Given the description of an element on the screen output the (x, y) to click on. 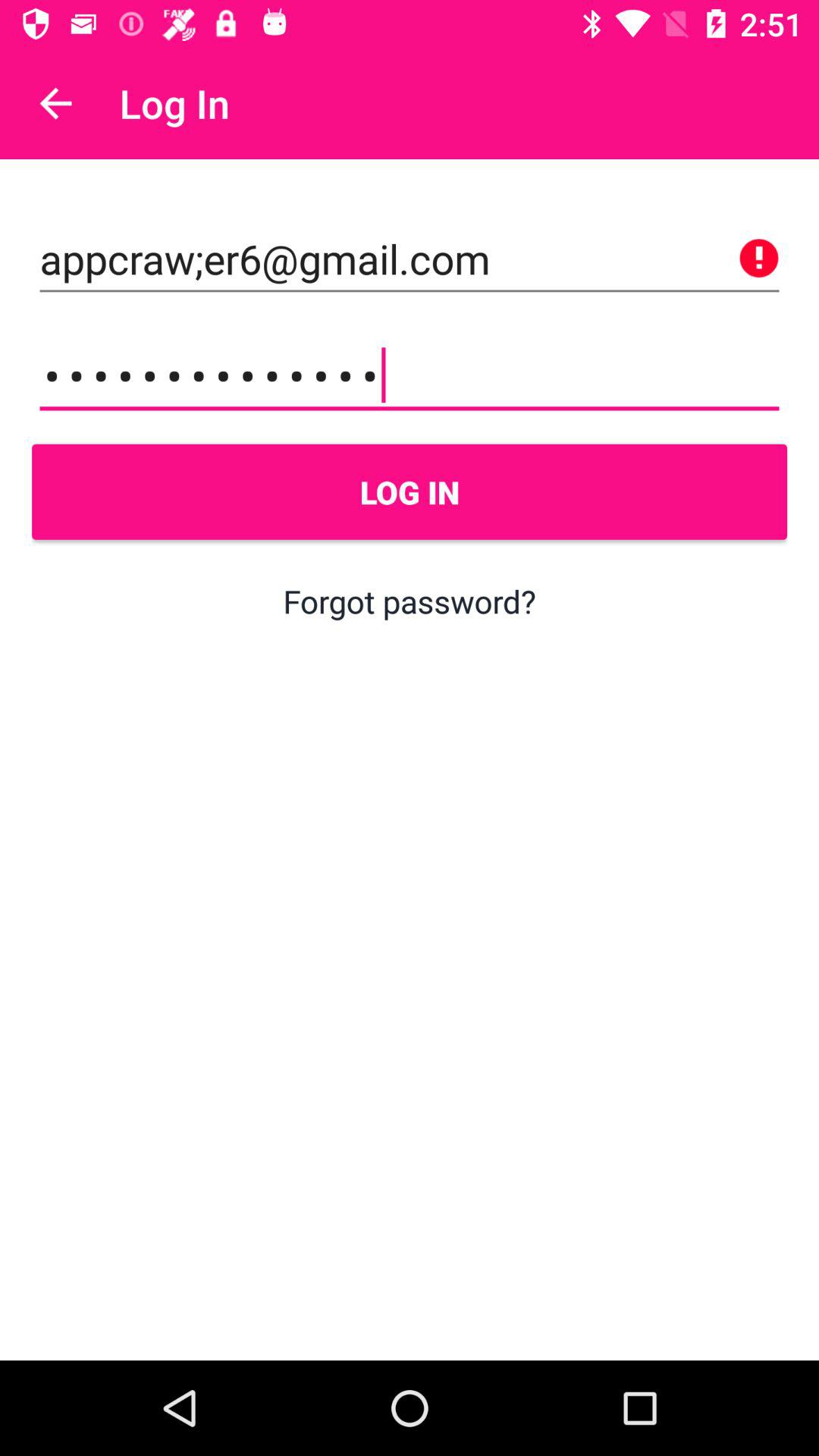
jump until appcrawler3116 icon (409, 375)
